Given the description of an element on the screen output the (x, y) to click on. 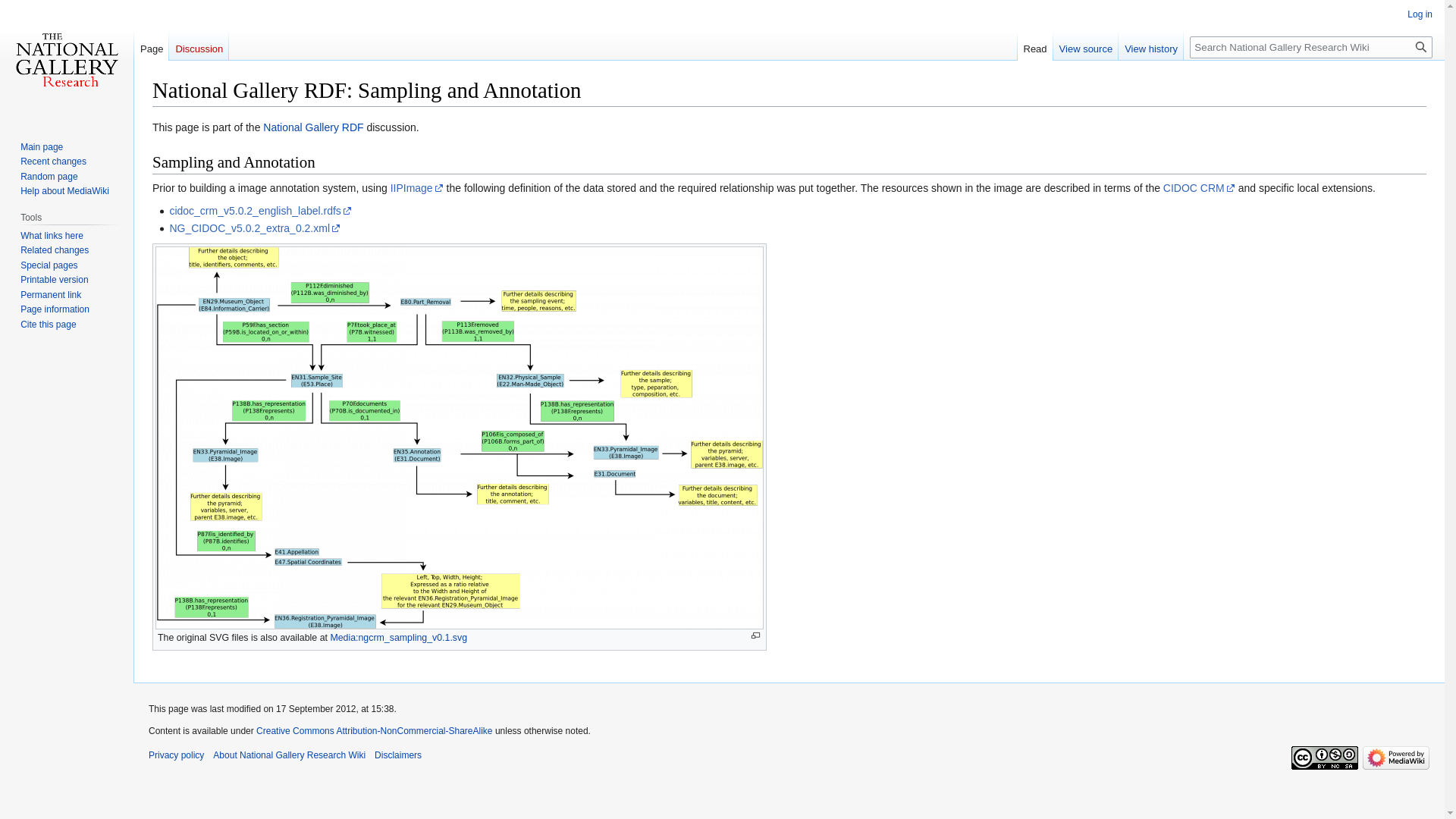
Search pages for this text (1420, 46)
Page (150, 45)
Page information (54, 308)
Creative Commons Attribution-NonCommercial-ShareAlike (374, 730)
Go (1420, 46)
Privacy policy (175, 755)
Search (1420, 46)
Help about MediaWiki (64, 190)
Random page (48, 176)
View history (1150, 45)
Log in (1419, 14)
National Gallery RDF (312, 127)
Go (1420, 46)
Main page (41, 146)
Disclaimers (398, 755)
